Given the description of an element on the screen output the (x, y) to click on. 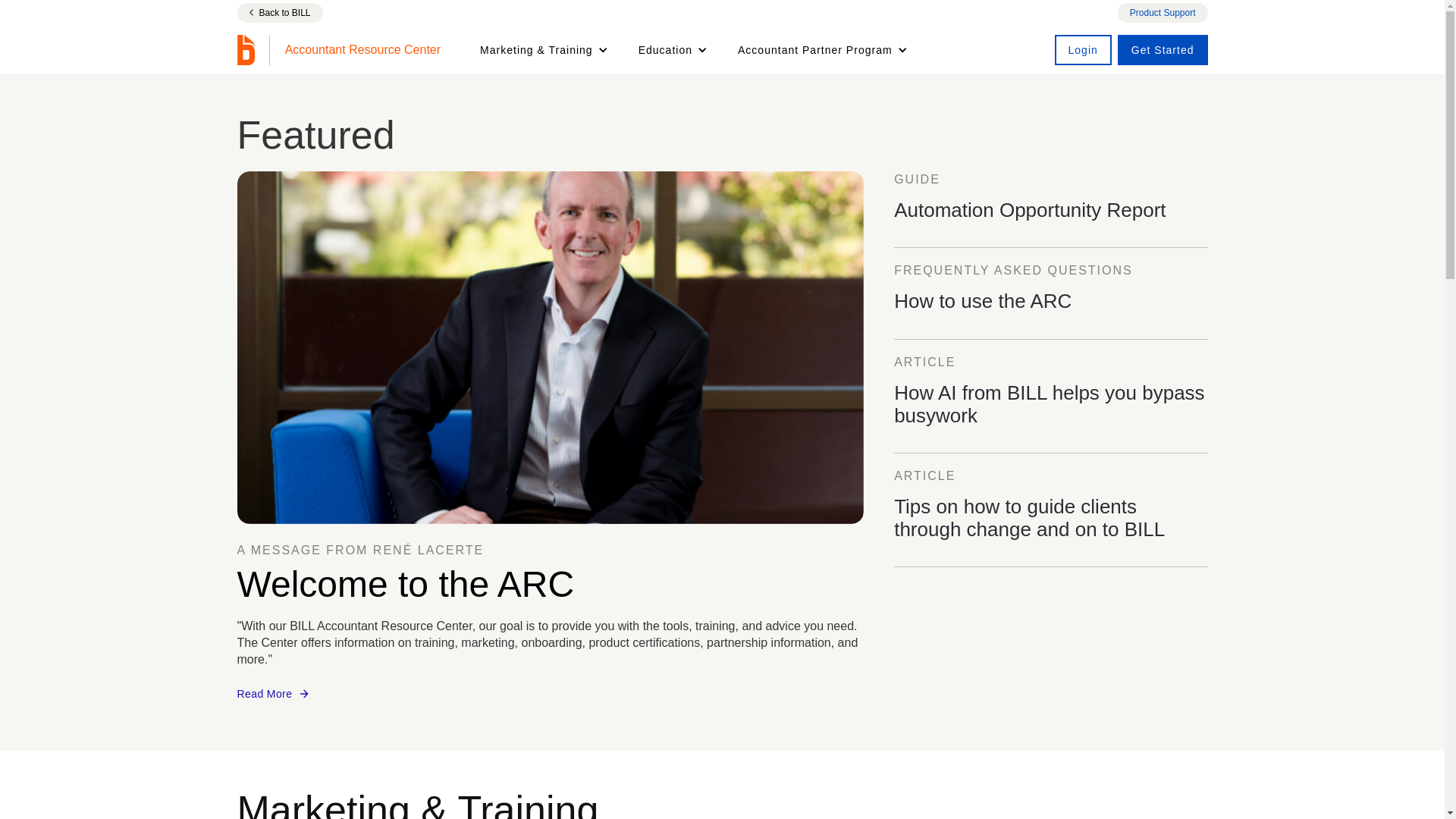
Get Started (1163, 50)
Login (1083, 50)
Accountant Resource Center (338, 50)
Product Support (1050, 307)
Back to BILL (1050, 216)
